Given the description of an element on the screen output the (x, y) to click on. 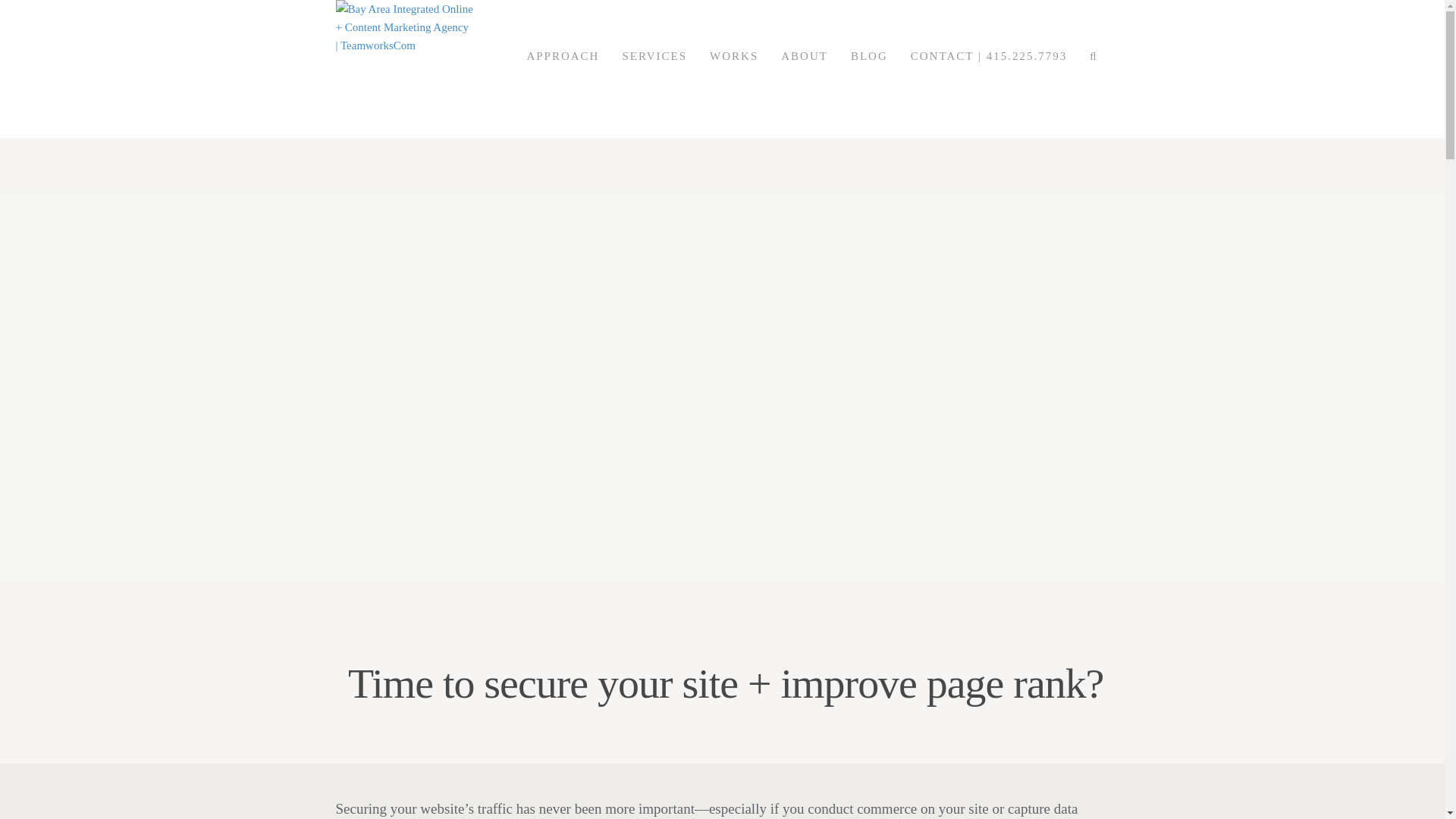
APPROACH (562, 68)
WORKS (734, 68)
ABOUT (805, 68)
Skip to content (369, 68)
SERVICES (654, 68)
Skip to navigation (376, 68)
BLOG (869, 68)
